Given the description of an element on the screen output the (x, y) to click on. 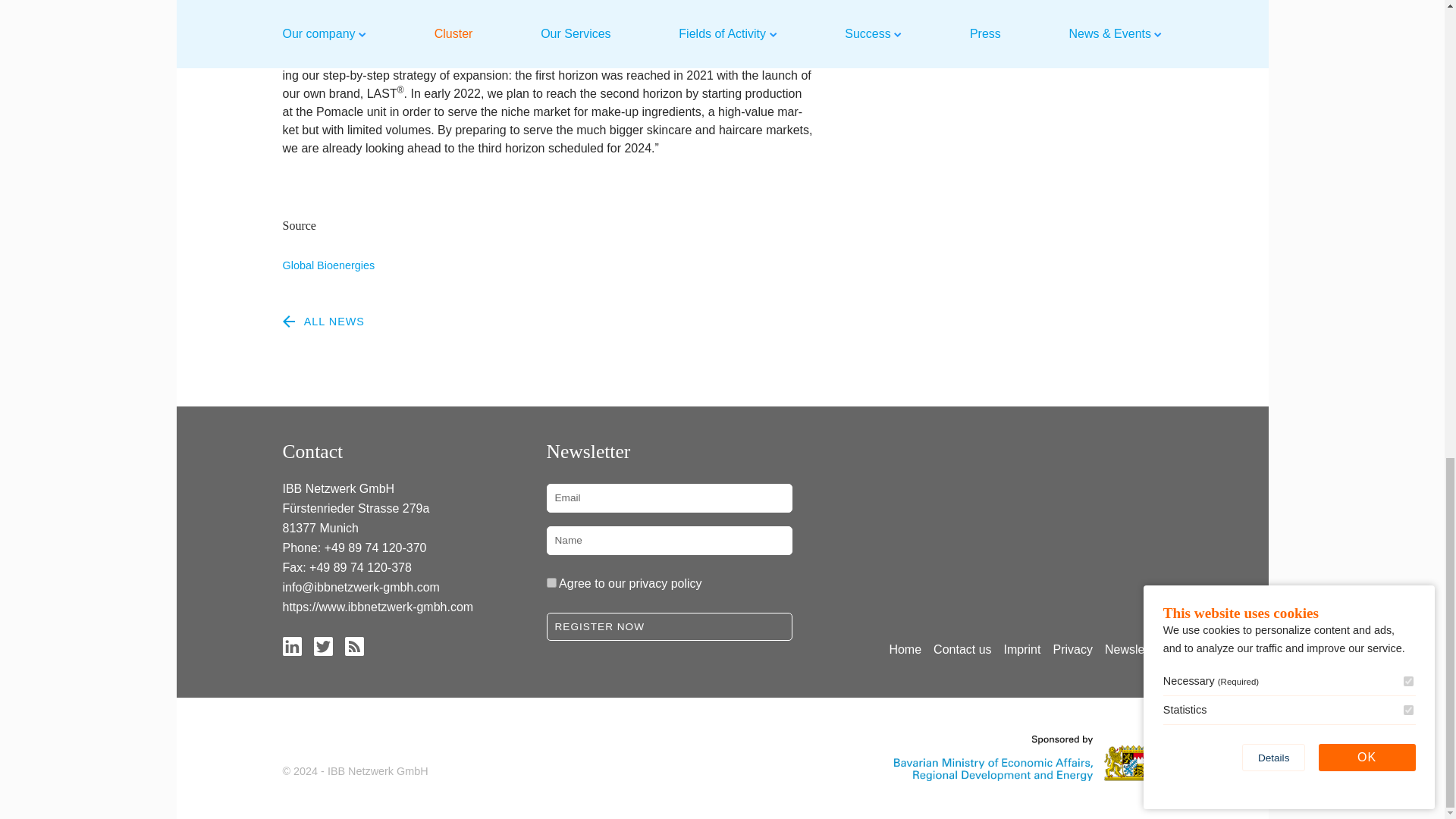
1 (551, 583)
RSS (352, 645)
Twitter (323, 645)
Register now (669, 626)
LinkedIn (291, 645)
